Given the description of an element on the screen output the (x, y) to click on. 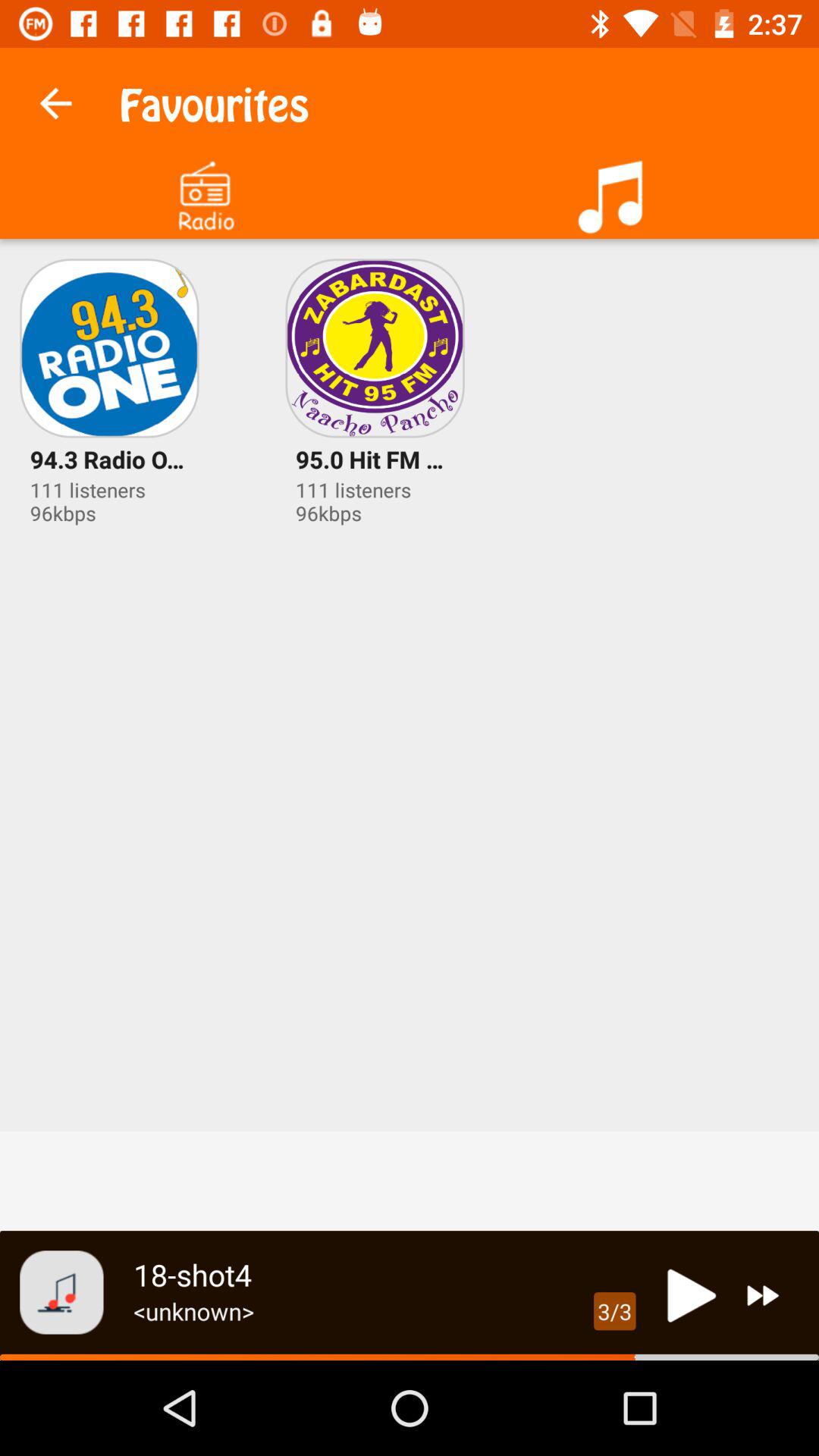
go to next (763, 1295)
